Given the description of an element on the screen output the (x, y) to click on. 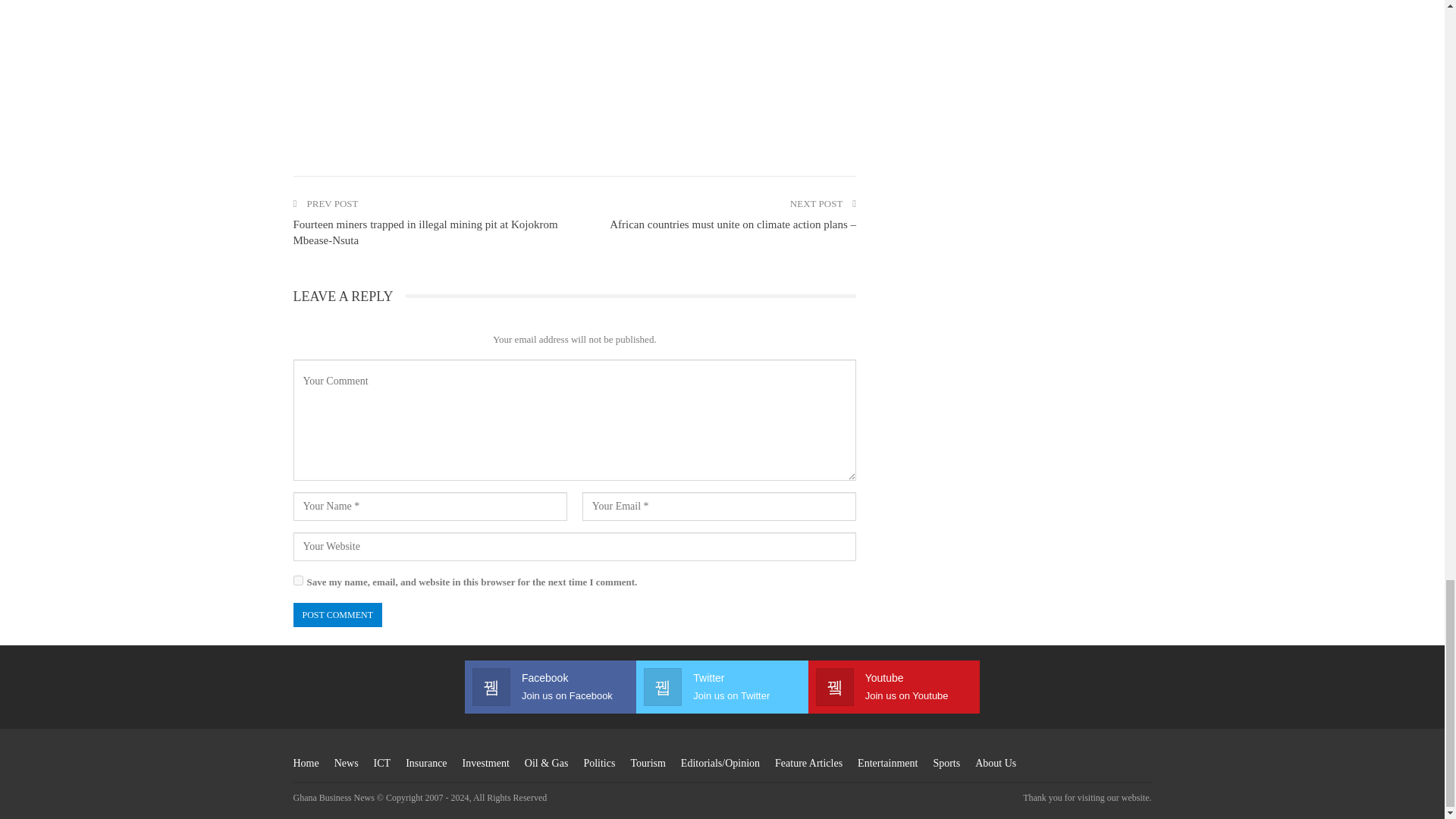
Post Comment (336, 614)
Post Comment (336, 614)
yes (297, 580)
